Given the description of an element on the screen output the (x, y) to click on. 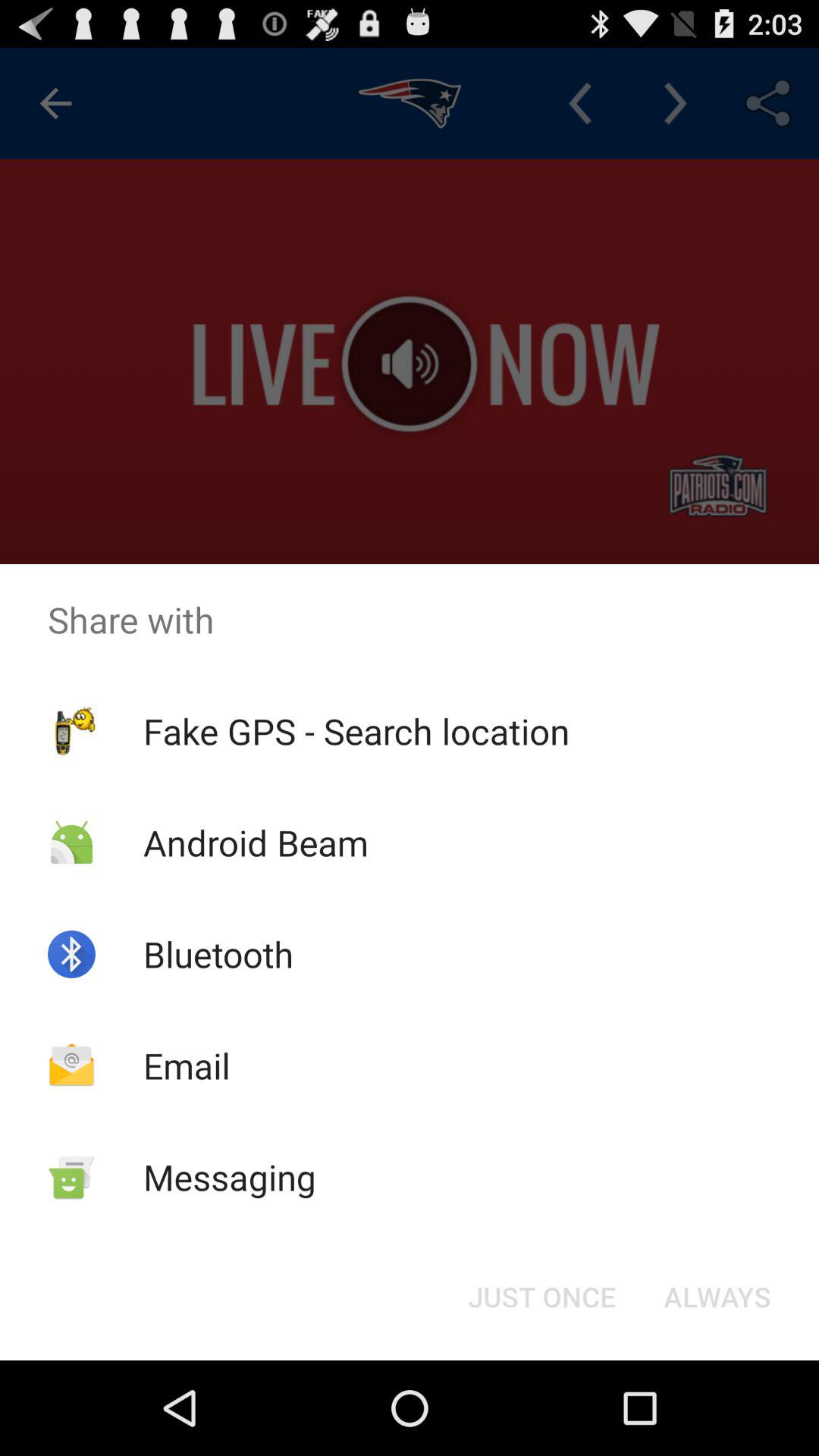
launch the messaging item (229, 1176)
